Given the description of an element on the screen output the (x, y) to click on. 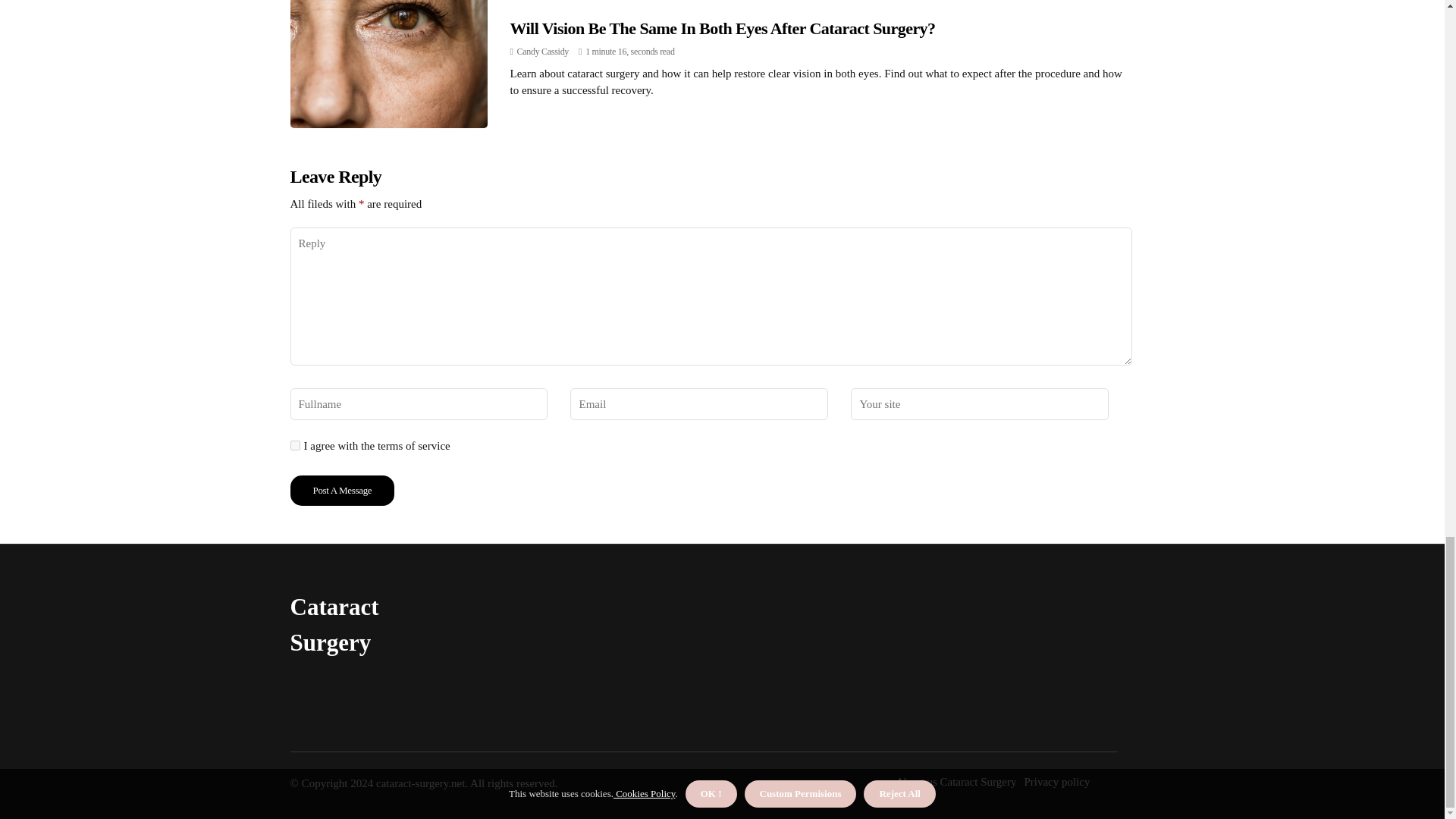
Posts by Candy Cassidy (542, 50)
Candy Cassidy (542, 50)
Post a Message (341, 490)
yes (294, 445)
Post a Message (341, 490)
Will Vision Be The Same In Both Eyes After Cataract Surgery? (721, 27)
